Given the description of an element on the screen output the (x, y) to click on. 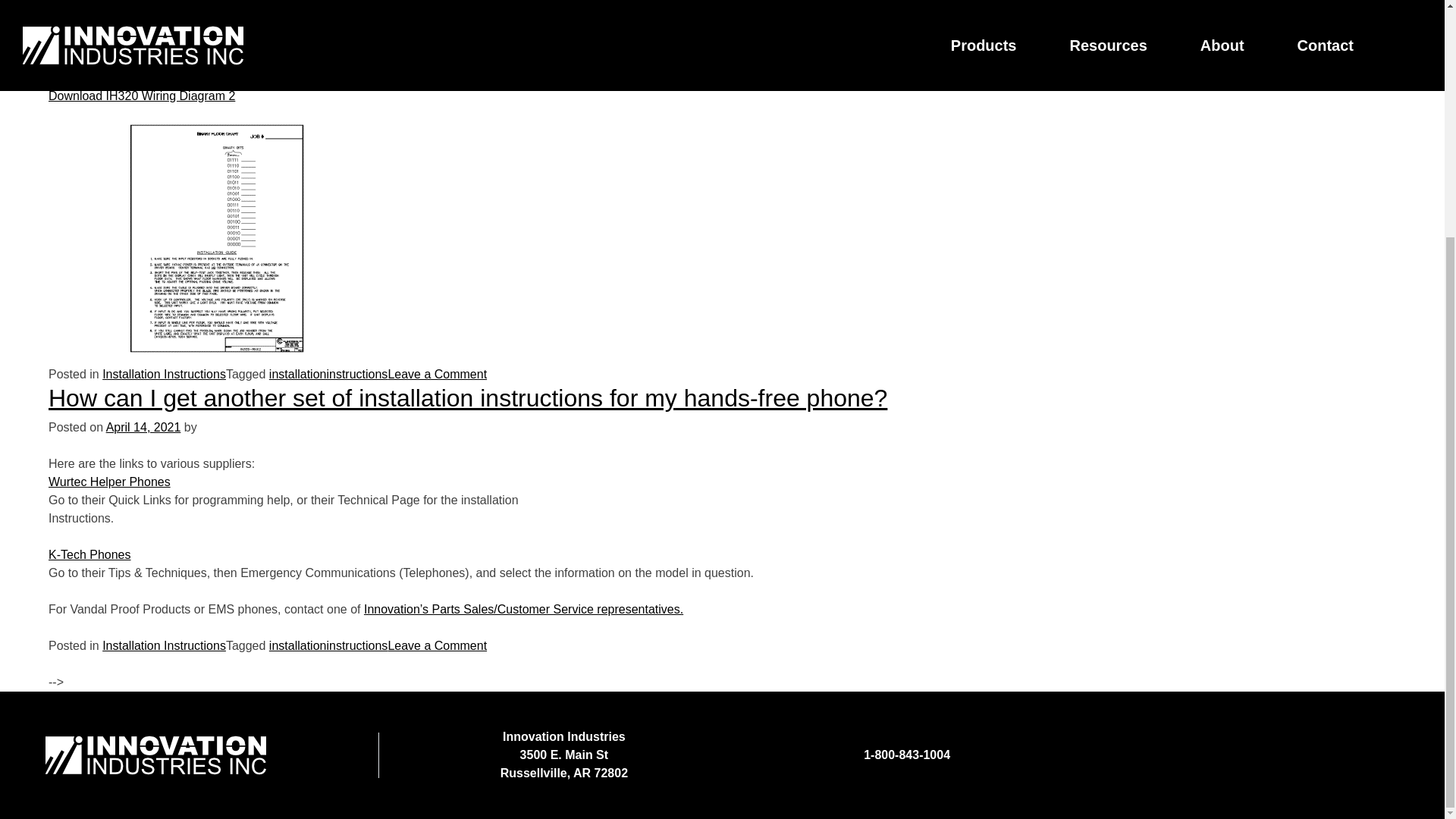
installationinstructions (328, 645)
Installation Instructions (163, 645)
Wurtec Helper Phones (109, 481)
installationinstructions (328, 373)
Installation Instructions (163, 373)
Download IH320 Wiring Diagram 2 (141, 95)
K-Tech Phones (89, 554)
April 14, 2021 (143, 427)
